Given the description of an element on the screen output the (x, y) to click on. 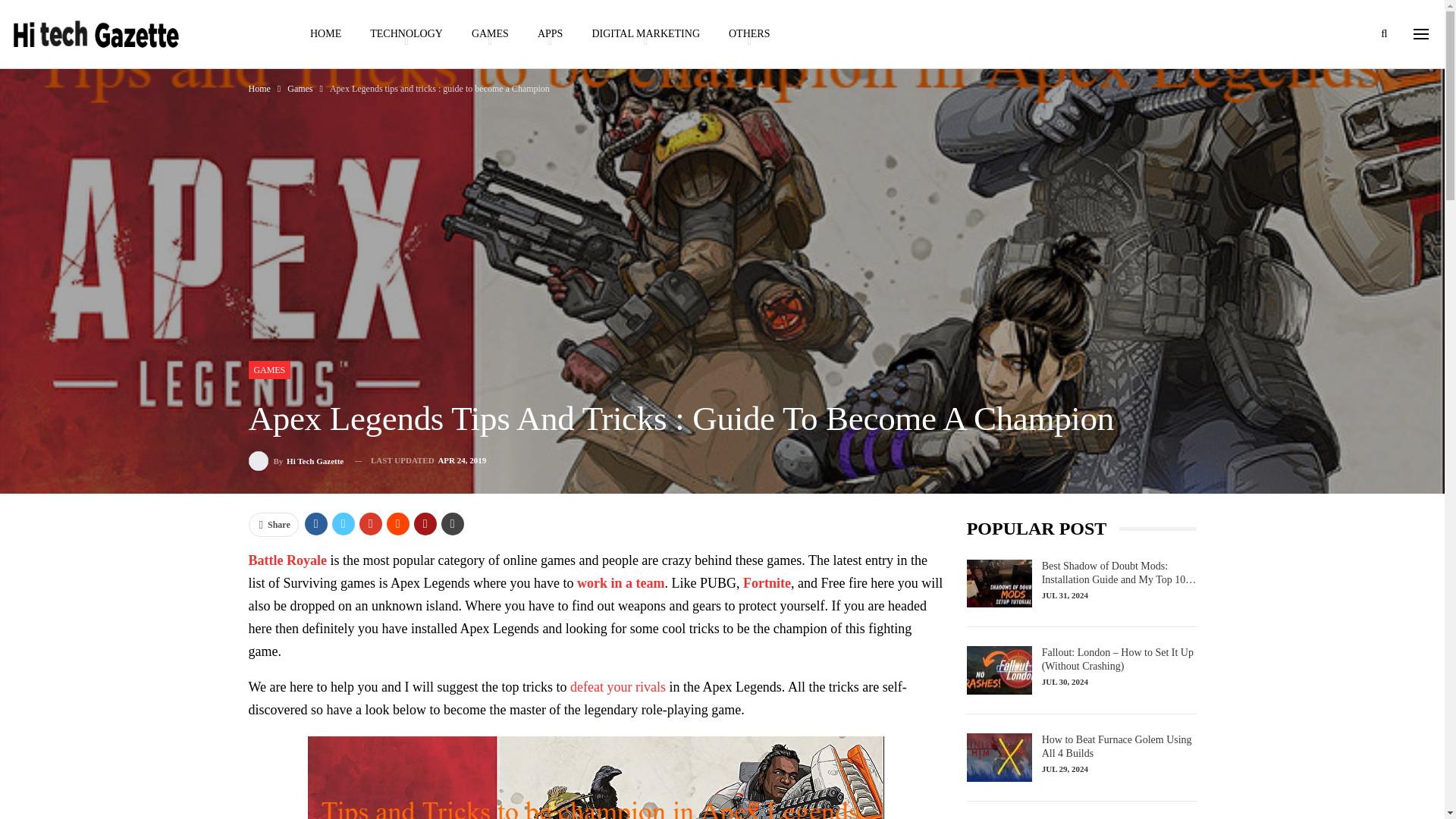
Browse Author Articles (295, 460)
TECHNOLOGY (406, 33)
GAMES (489, 33)
HOME (325, 33)
